Given the description of an element on the screen output the (x, y) to click on. 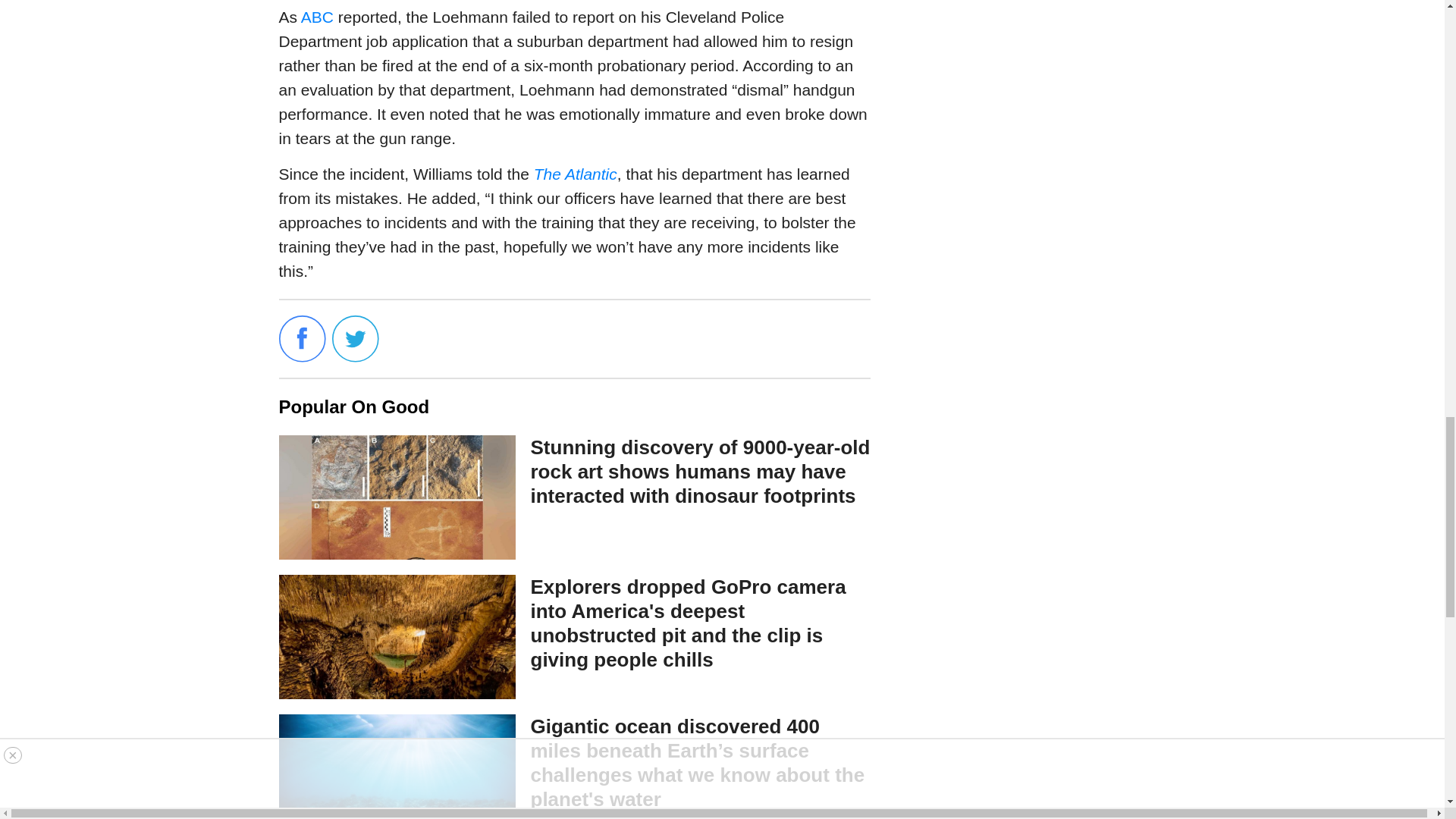
The Atlantic (575, 173)
ABC (317, 16)
